Given the description of an element on the screen output the (x, y) to click on. 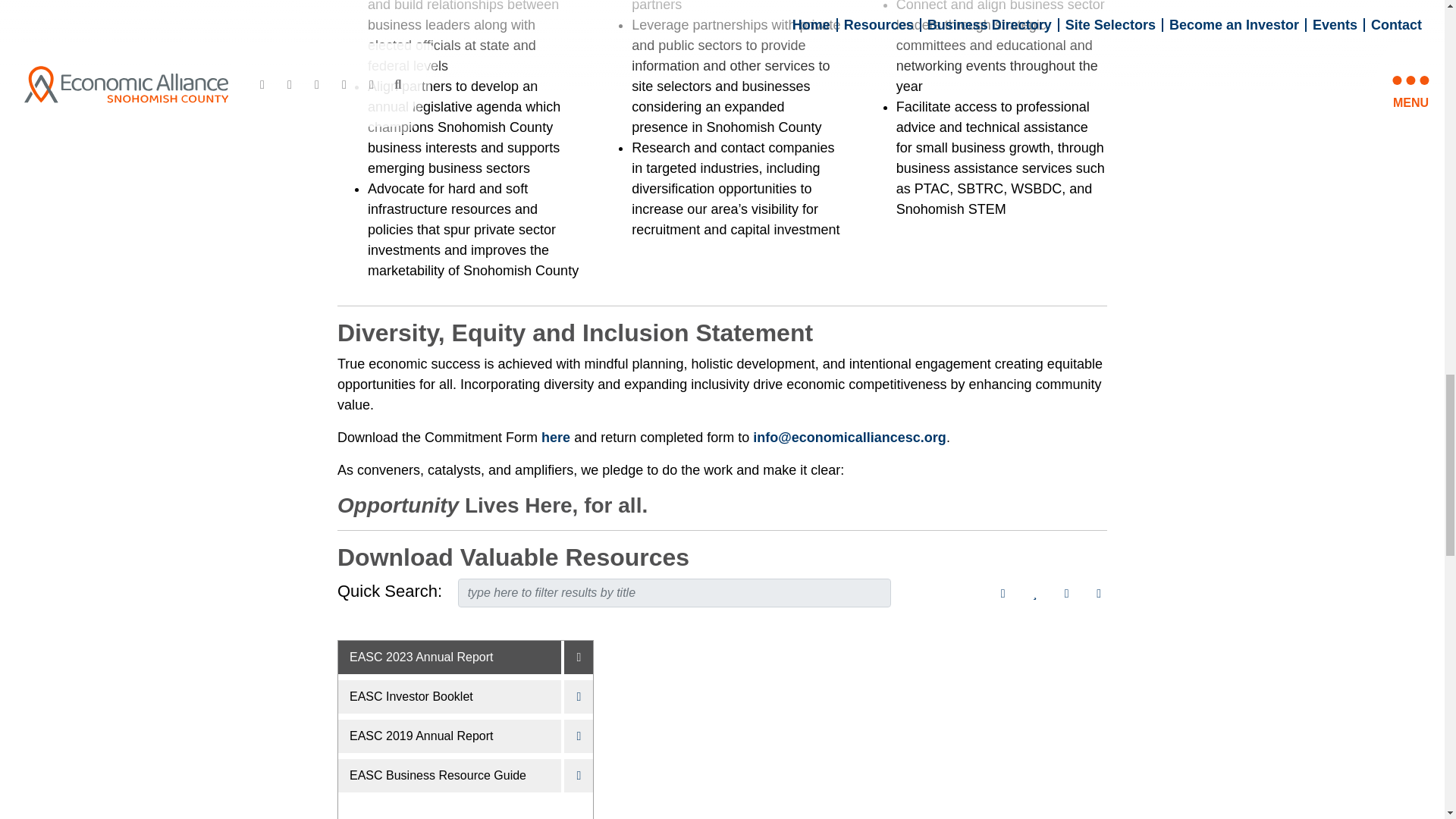
Download EASC Investor Booklet (576, 696)
Download EASC Business Resource Guide (576, 775)
Download EASC 2019 Annual Report (576, 735)
Download EASC 2023 Annual Report (576, 657)
